Given the description of an element on the screen output the (x, y) to click on. 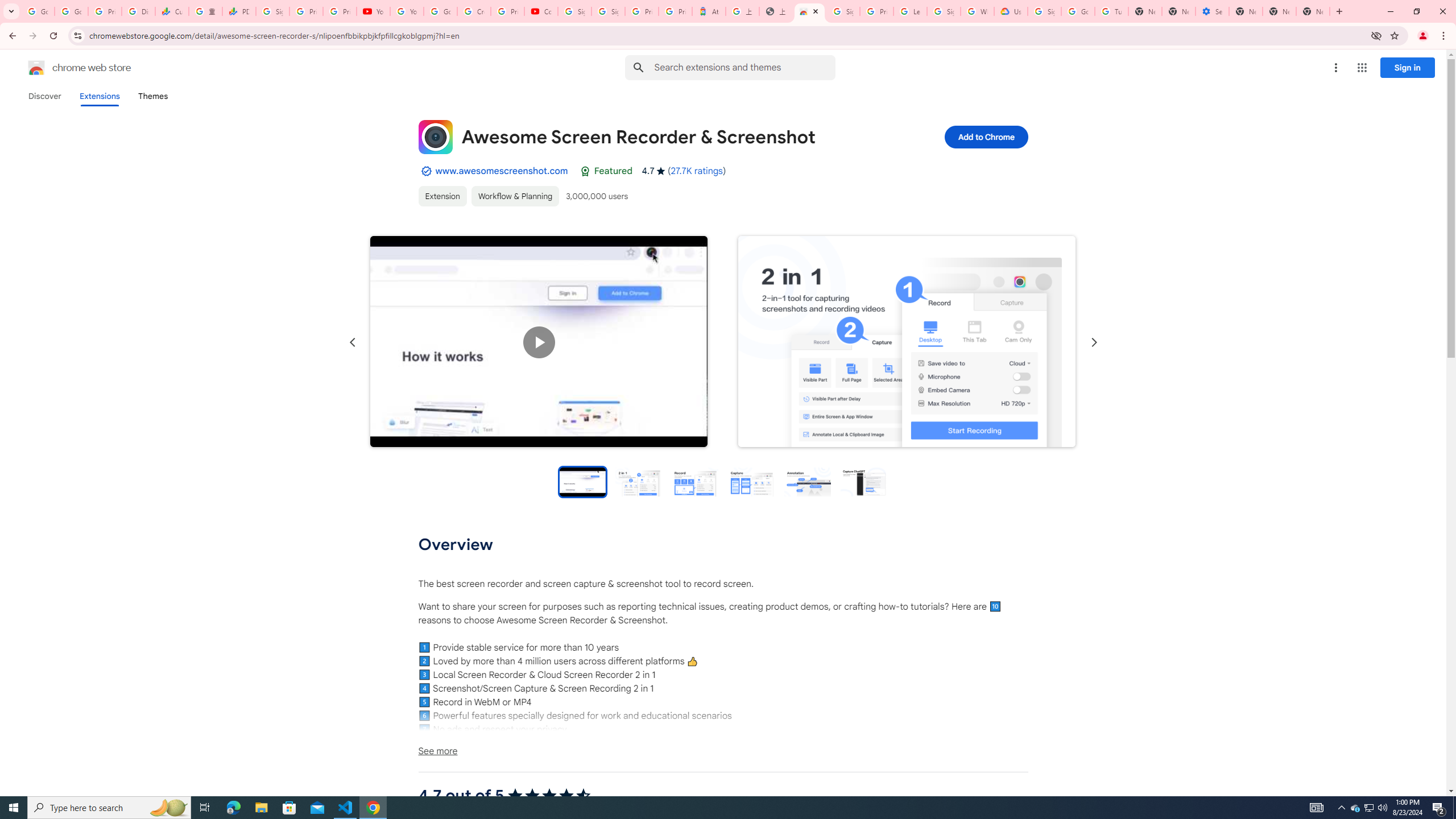
Item media 2 screenshot (906, 342)
Preview slide 5 (807, 481)
Chrome Web Store logo chrome web store (67, 67)
27.7K ratings (696, 170)
Sign in - Google Accounts (272, 11)
YouTube (406, 11)
Settings - Addresses and more (1212, 11)
Sign in - Google Accounts (842, 11)
Item logo image for Awesome Screen Recorder & Screenshot (434, 136)
See more (722, 751)
Discover (43, 95)
New Tab (1313, 11)
Extensions (99, 95)
